Given the description of an element on the screen output the (x, y) to click on. 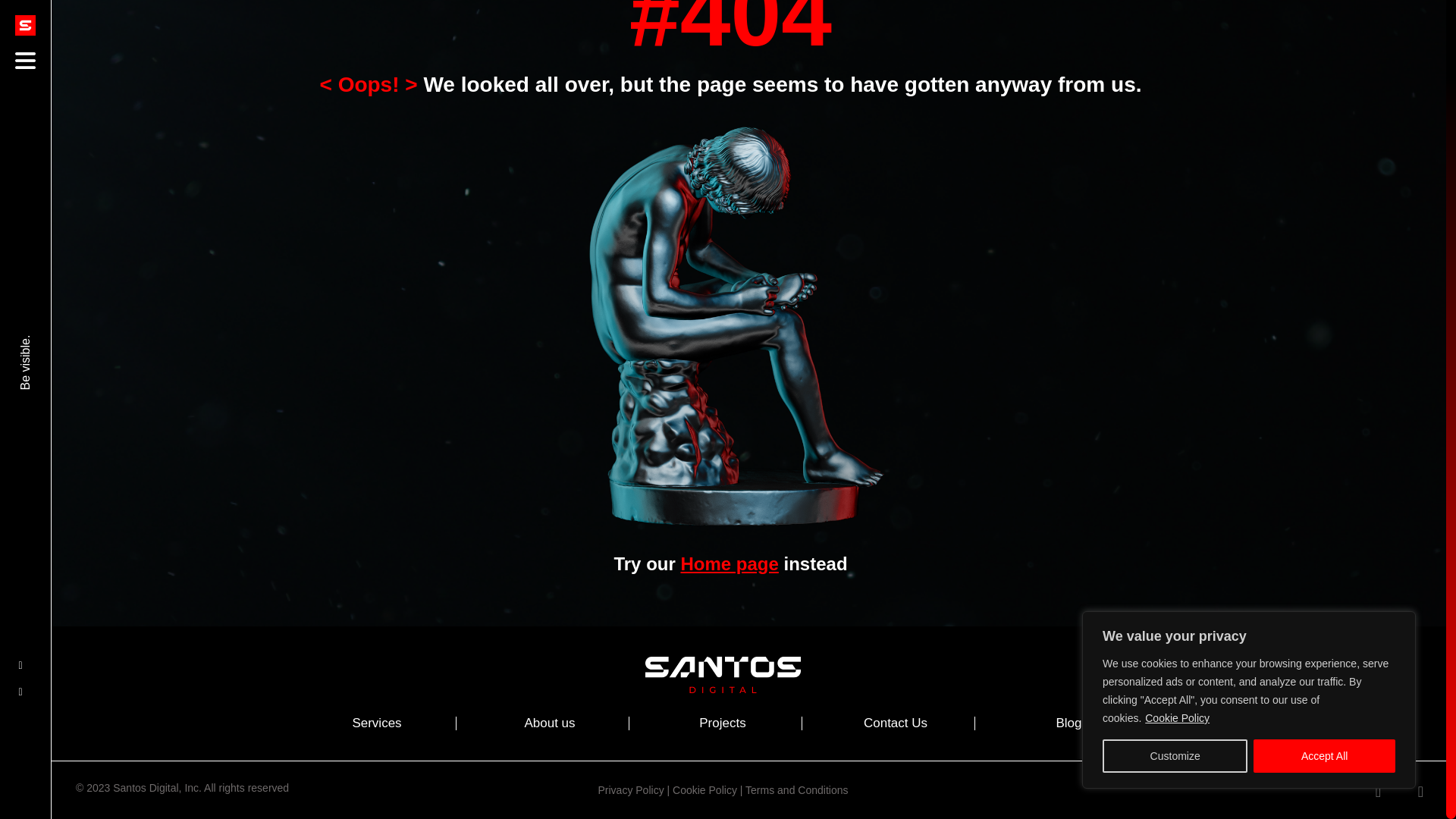
Cookie Policy (1176, 632)
Services (376, 722)
Accept All (1323, 670)
About us (549, 722)
Home page (728, 563)
Customize (1174, 670)
Projects (721, 722)
Contact Us (895, 722)
